Given the description of an element on the screen output the (x, y) to click on. 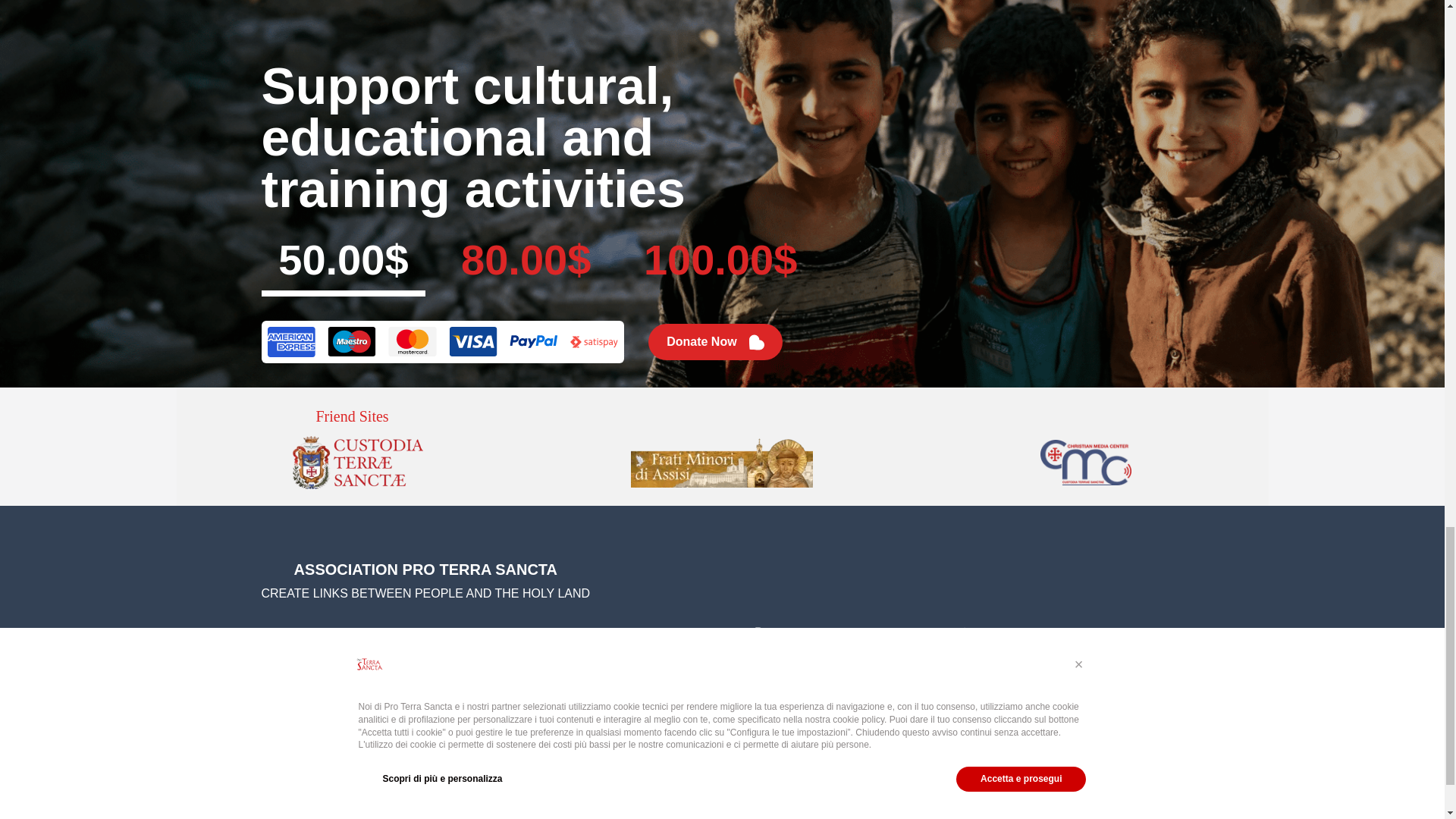
Pro Terra Sancta UK (616, 692)
